Given the description of an element on the screen output the (x, y) to click on. 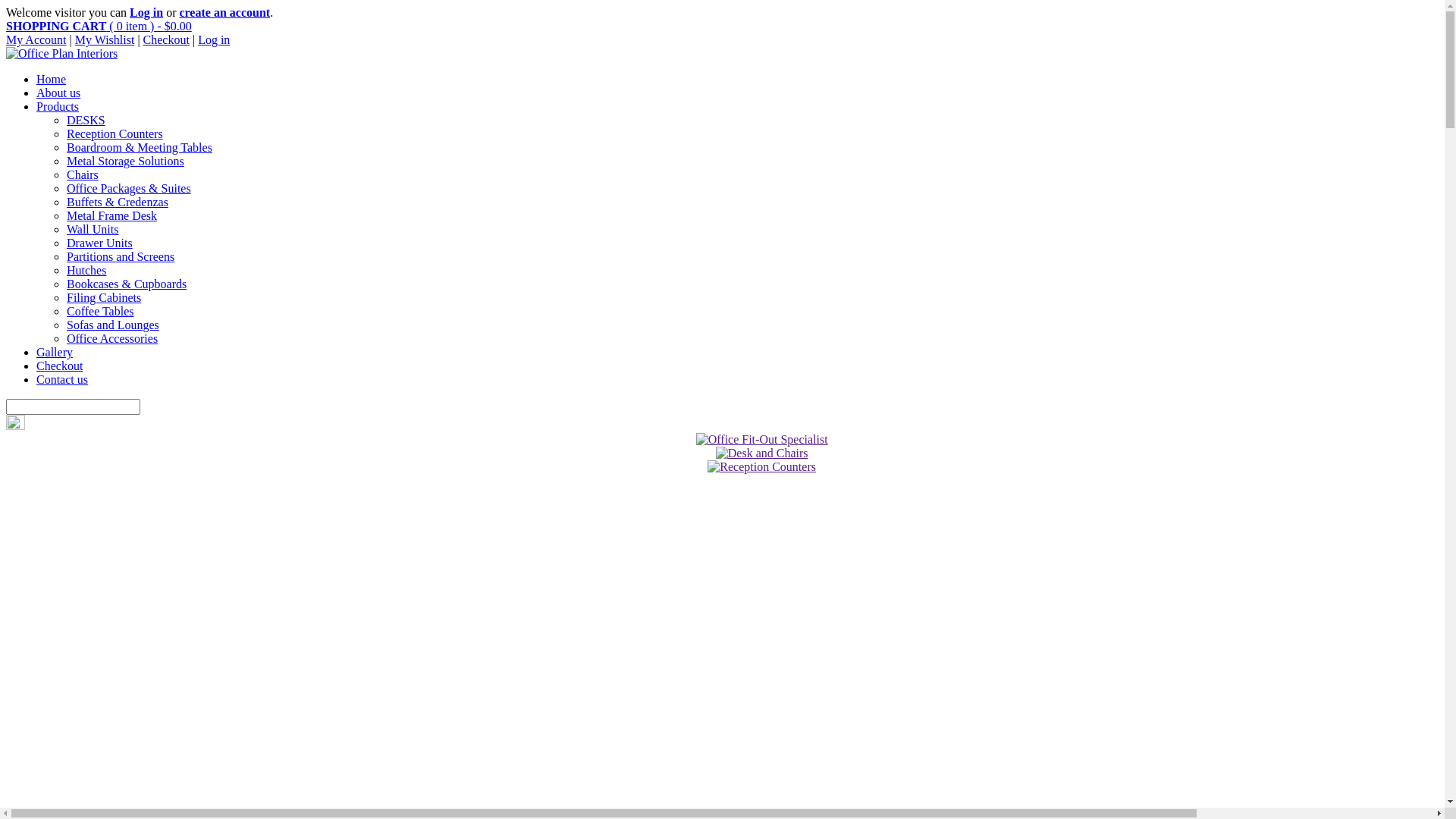
Log in Element type: text (213, 39)
DESKS Element type: text (85, 119)
Bookcases & Cupboards Element type: text (126, 283)
Desk and Chairs Element type: hover (761, 453)
Chairs Element type: text (82, 174)
create an account Element type: text (223, 12)
Coffee Tables Element type: text (99, 310)
Products Element type: text (57, 106)
Sofas and Lounges Element type: text (112, 324)
Partitions and Screens Element type: text (120, 256)
Reception Counters Element type: hover (761, 466)
Checkout Element type: text (59, 365)
Hutches Element type: text (86, 269)
About us Element type: text (58, 92)
Home Element type: text (50, 78)
Wall Units Element type: text (92, 228)
Office Plan Interiors Element type: hover (61, 53)
Buffets & Credenzas Element type: text (117, 201)
SHOPPING CART ( 0 item ) - $0.00 Element type: text (98, 25)
Log in Element type: text (146, 12)
My Wishlist Element type: text (104, 39)
Checkout Element type: text (166, 39)
Boardroom & Meeting Tables Element type: text (139, 147)
Metal Frame Desk Element type: text (111, 215)
Office Accessories Element type: text (111, 338)
My Account Element type: text (36, 39)
Office Fit-Out Specialist Element type: hover (762, 439)
Filing Cabinets Element type: text (103, 297)
Drawer Units Element type: text (99, 242)
Office Packages & Suites Element type: text (128, 188)
Gallery Element type: text (54, 351)
Contact us Element type: text (61, 379)
Metal Storage Solutions Element type: text (125, 160)
Reception Counters Element type: text (114, 133)
